Given the description of an element on the screen output the (x, y) to click on. 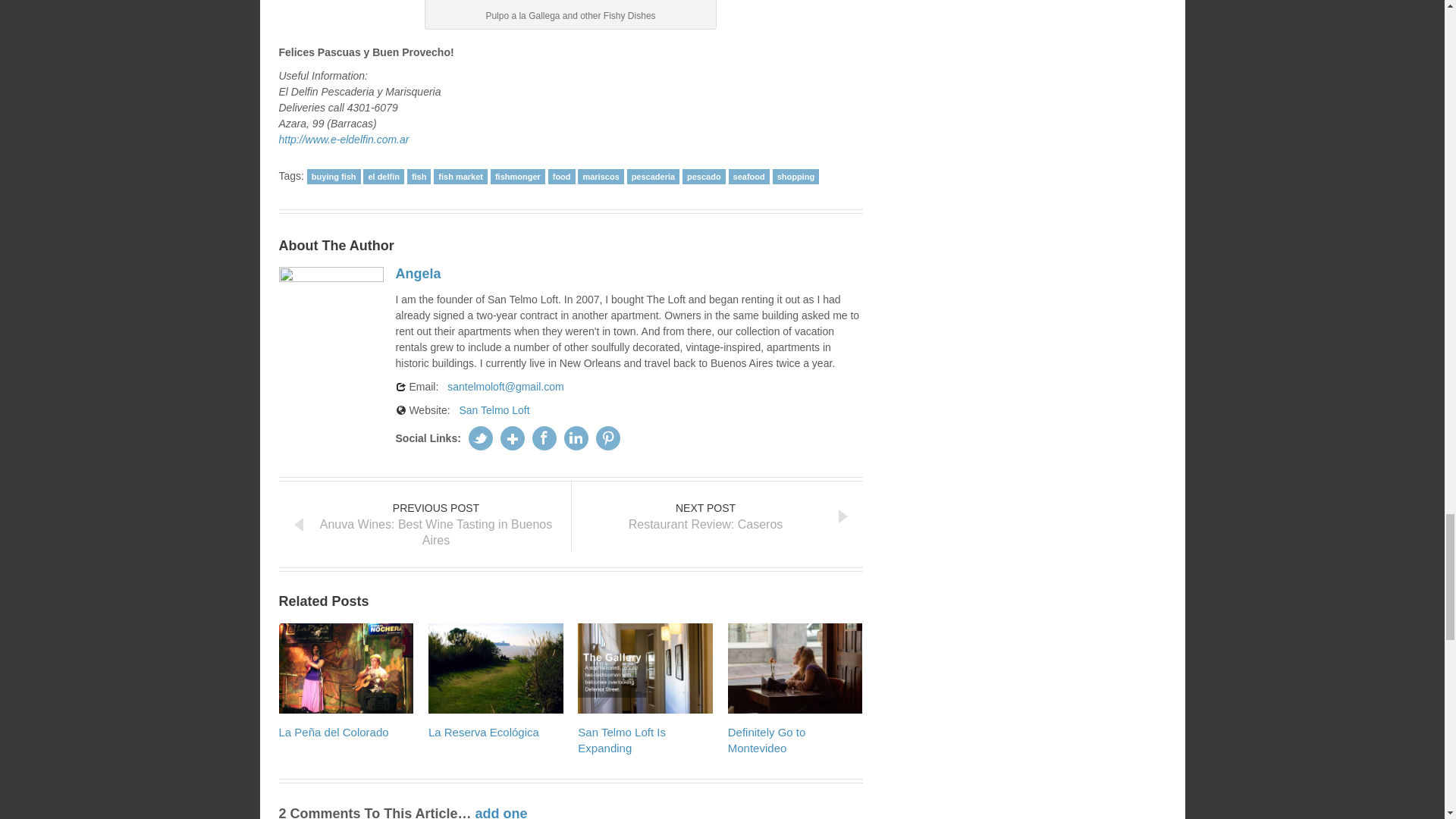
El Delfin (344, 139)
Send a private message via email (505, 386)
San Telmo Loft (493, 410)
Pescaderia El Delfin (570, 1)
Posts by Angela (421, 273)
